Given the description of an element on the screen output the (x, y) to click on. 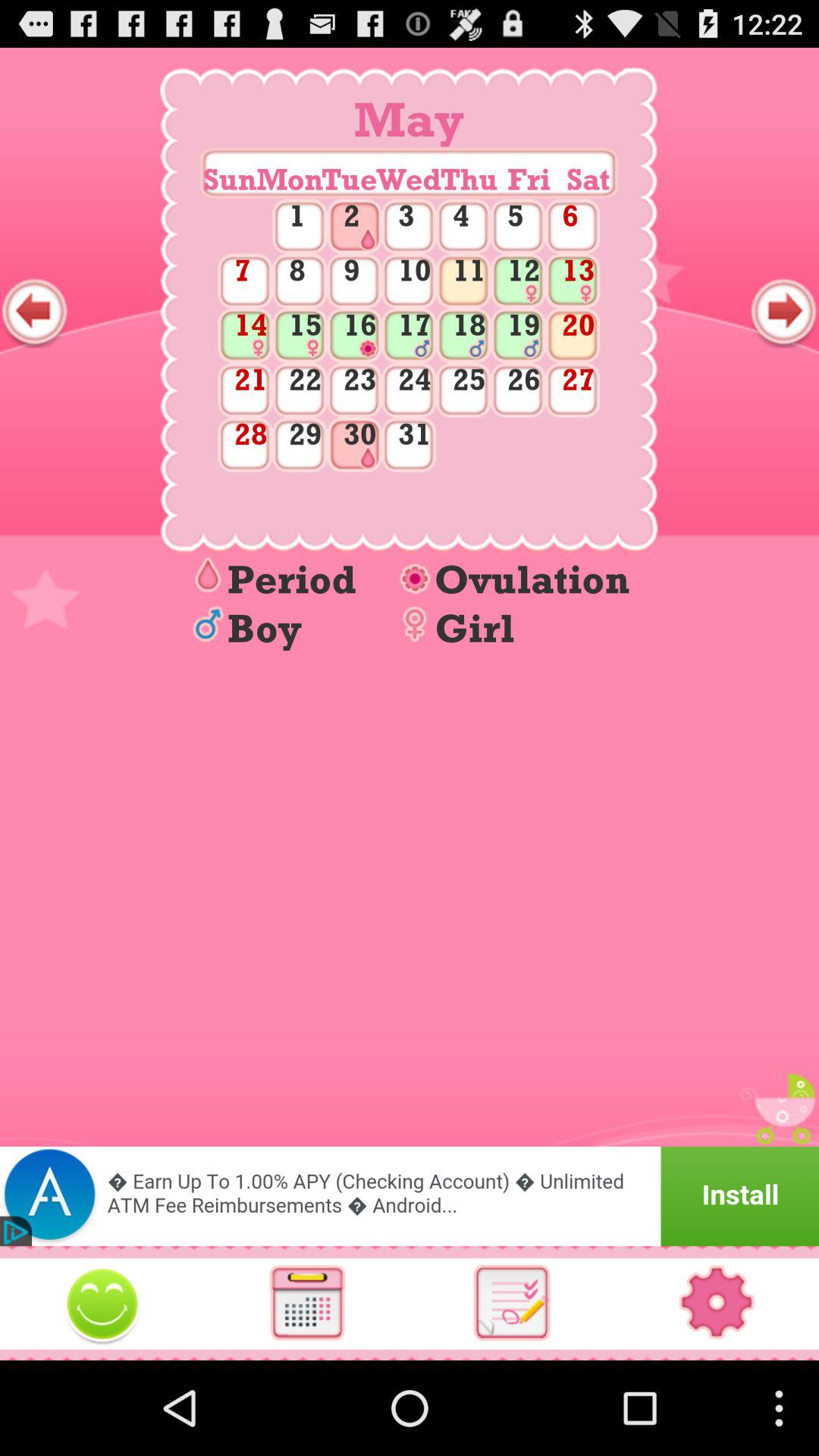
images (102, 1302)
